Given the description of an element on the screen output the (x, y) to click on. 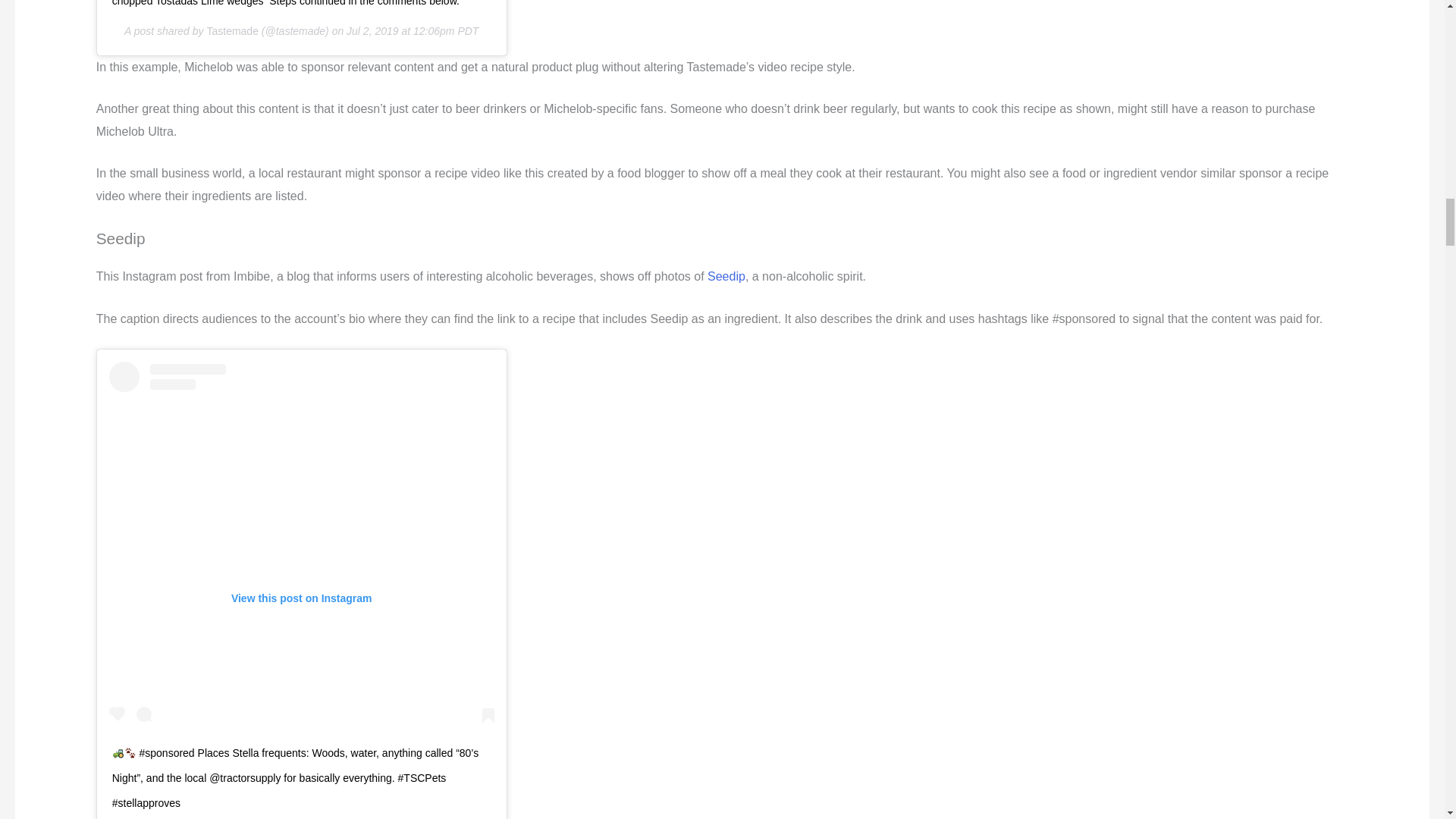
Tastemade (726, 276)
